Given the description of an element on the screen output the (x, y) to click on. 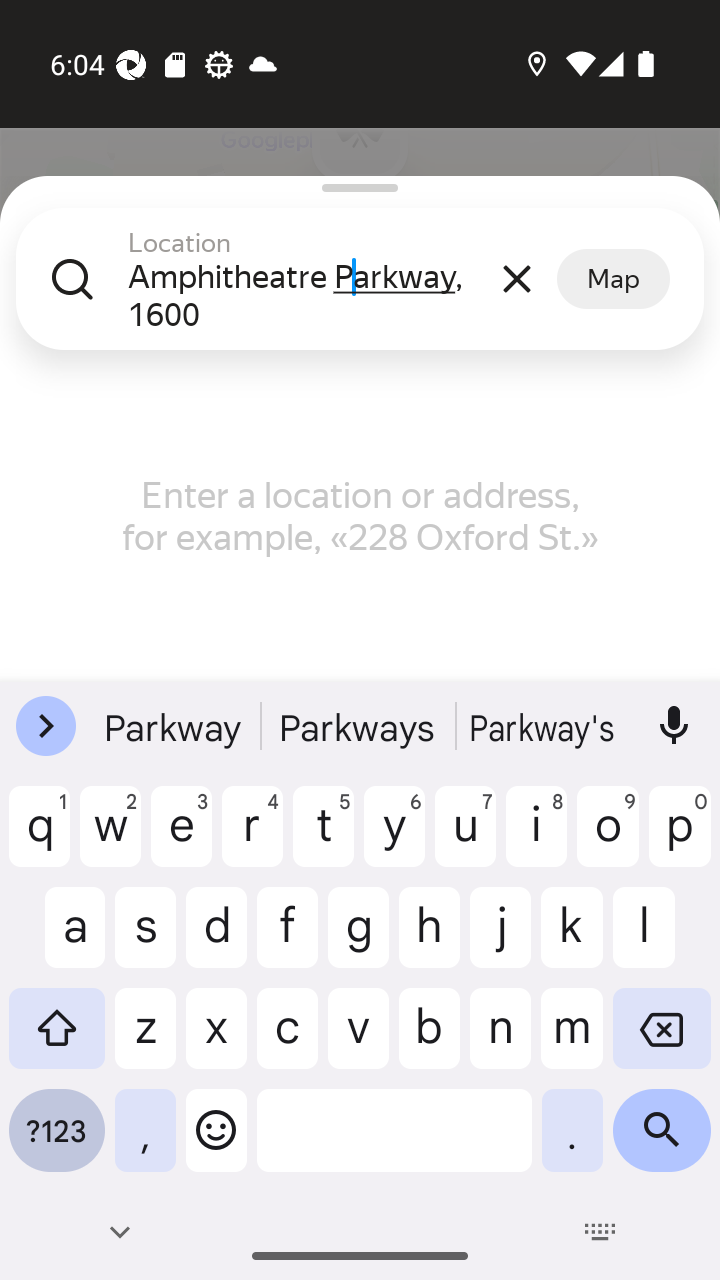
Map (613, 279)
Clear text box (516, 278)
Amphitheatre Parkway, 1600 (307, 296)
